Given the description of an element on the screen output the (x, y) to click on. 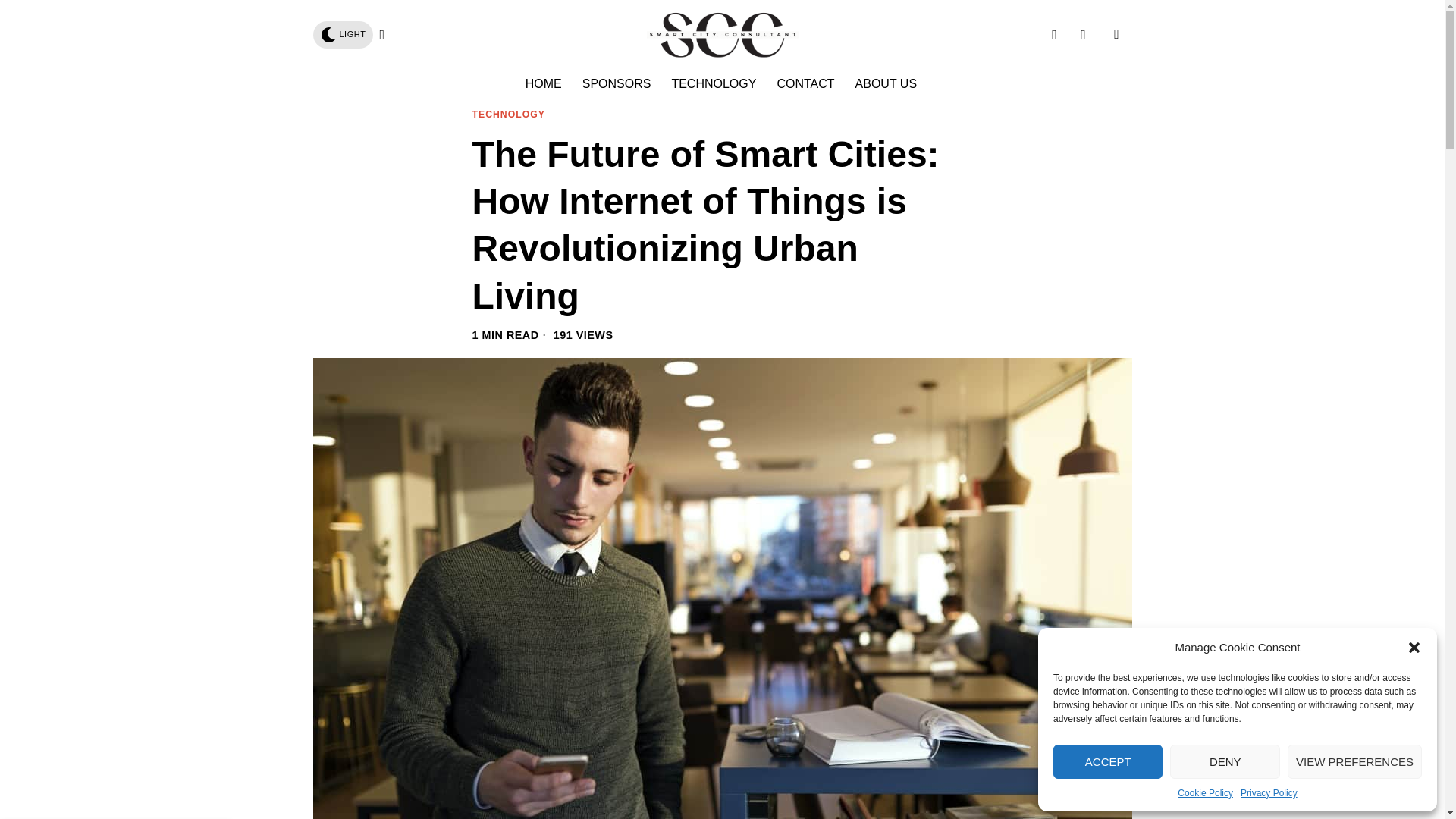
Cookie Policy (1205, 793)
TECHNOLOGY (507, 115)
HOME (544, 83)
DENY (1224, 761)
ABOUT US (886, 83)
Privacy Policy (1268, 793)
VIEW PREFERENCES (1354, 761)
CONTACT (806, 83)
ACCEPT (1106, 761)
SPONSORS (617, 83)
TECHNOLOGY (714, 83)
